Given the description of an element on the screen output the (x, y) to click on. 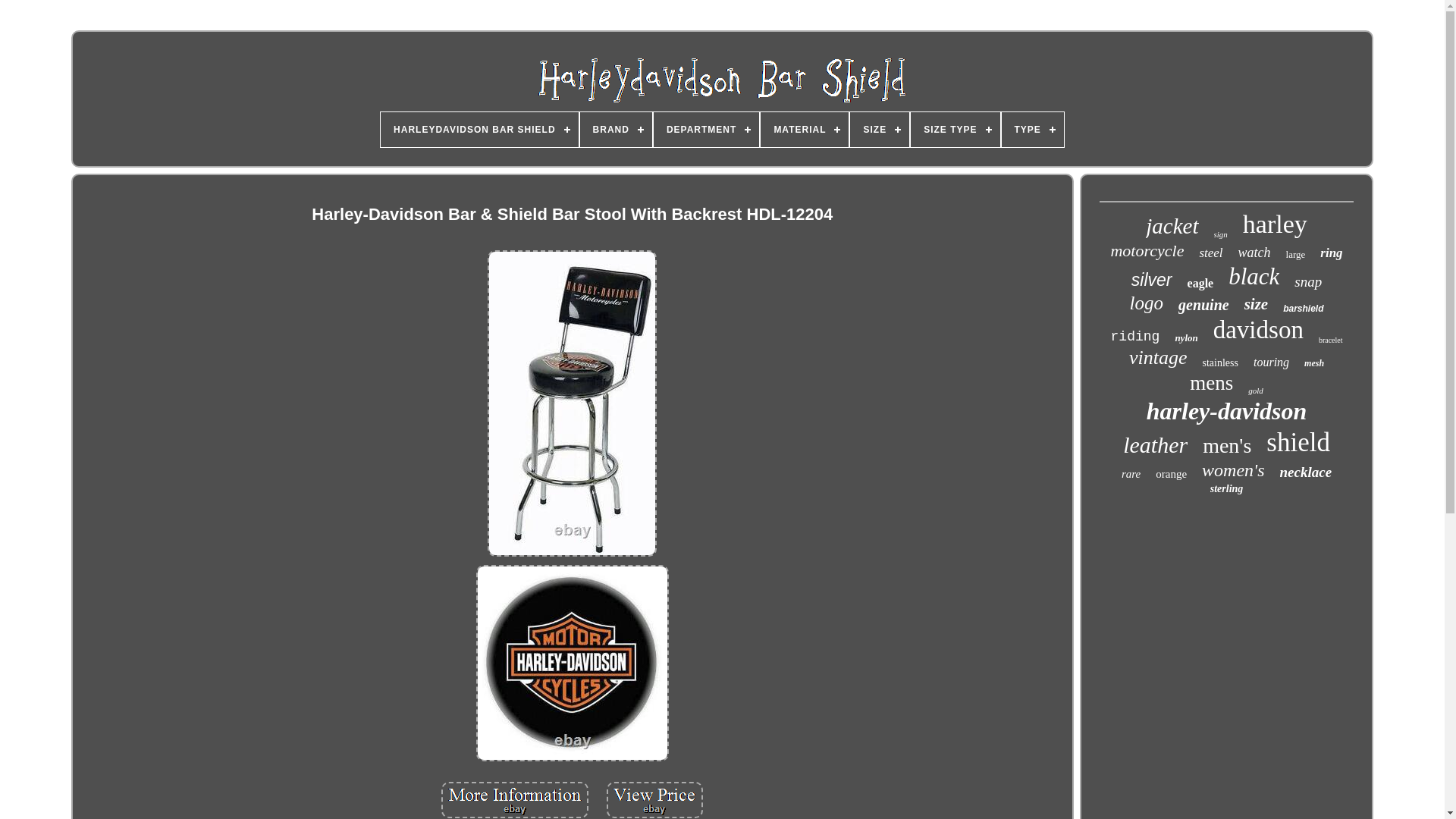
BRAND (615, 129)
HARLEYDAVIDSON BAR SHIELD (479, 129)
DEPARTMENT (705, 129)
